Given the description of an element on the screen output the (x, y) to click on. 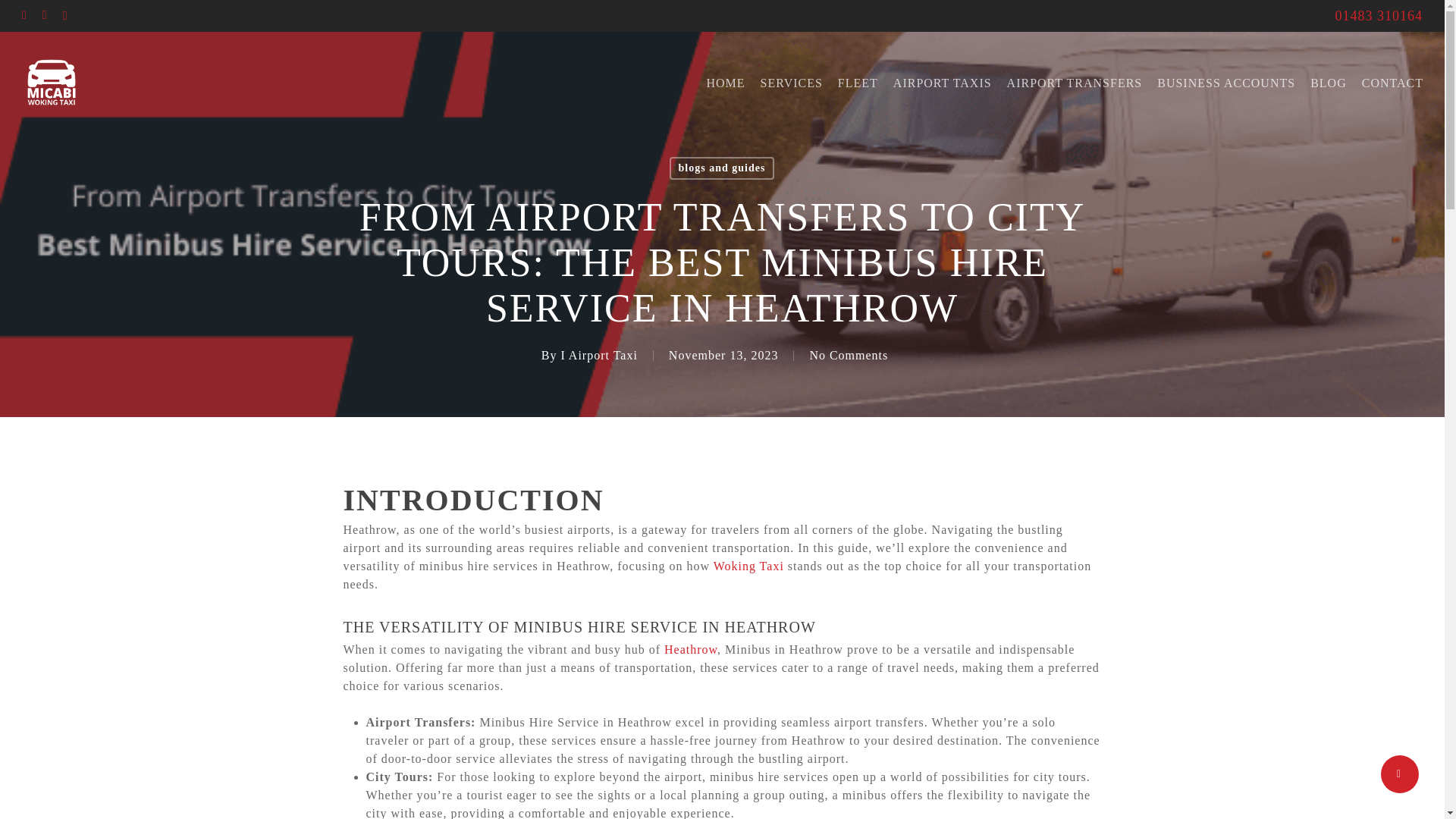
Woking Taxi (748, 565)
I Airport Taxi (598, 354)
Posts by I Airport Taxi (598, 354)
CONTACT (1392, 82)
BLOG (1328, 82)
01483 310164 (1378, 15)
blogs and guides (721, 168)
Heathrow (690, 649)
BUSINESS ACCOUNTS (1226, 82)
No Comments (848, 354)
